Given the description of an element on the screen output the (x, y) to click on. 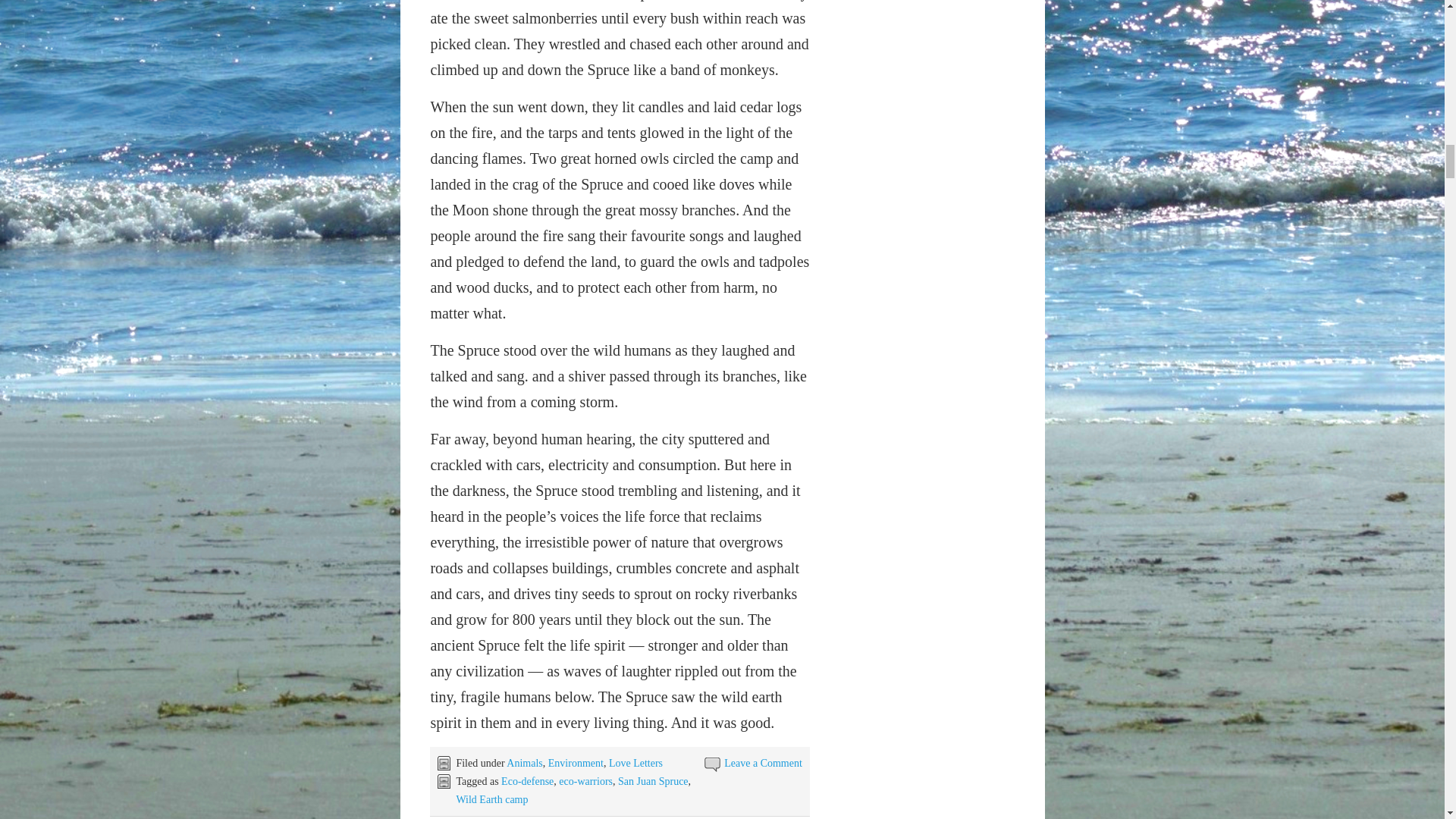
eco-warriors (585, 781)
Leave a Comment (762, 763)
Eco-defense (526, 781)
Love Letters (635, 763)
Wild Earth camp (491, 799)
Animals (523, 763)
San Juan Spruce (652, 781)
Environment (576, 763)
